Given the description of an element on the screen output the (x, y) to click on. 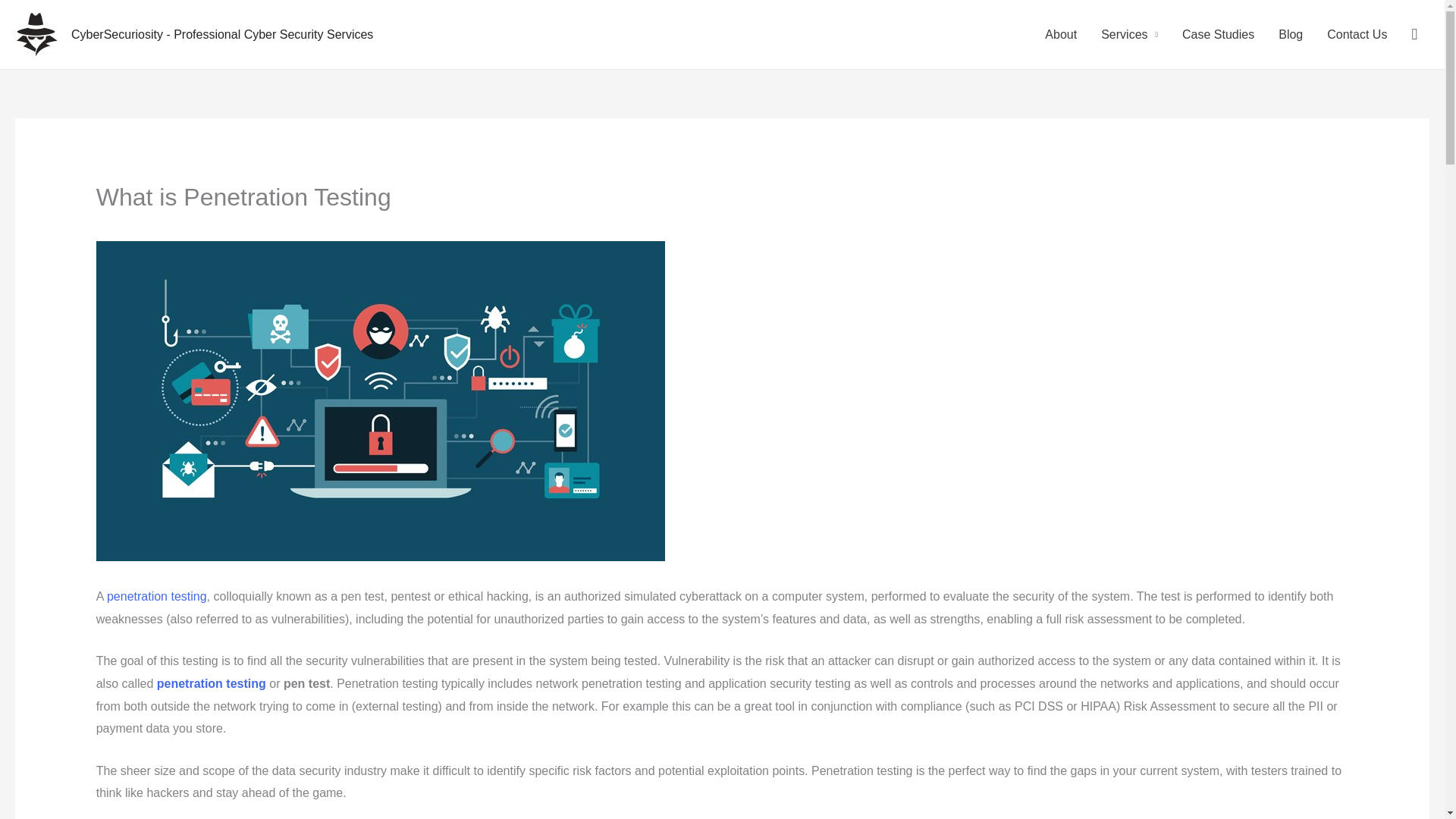
Case Studies (1218, 34)
Contact Us (1356, 34)
Services (1129, 34)
CyberSecuriosity - Professional Cyber Security Services (221, 33)
Search (18, 17)
penetration testing (211, 683)
penetration testing (156, 595)
